Given the description of an element on the screen output the (x, y) to click on. 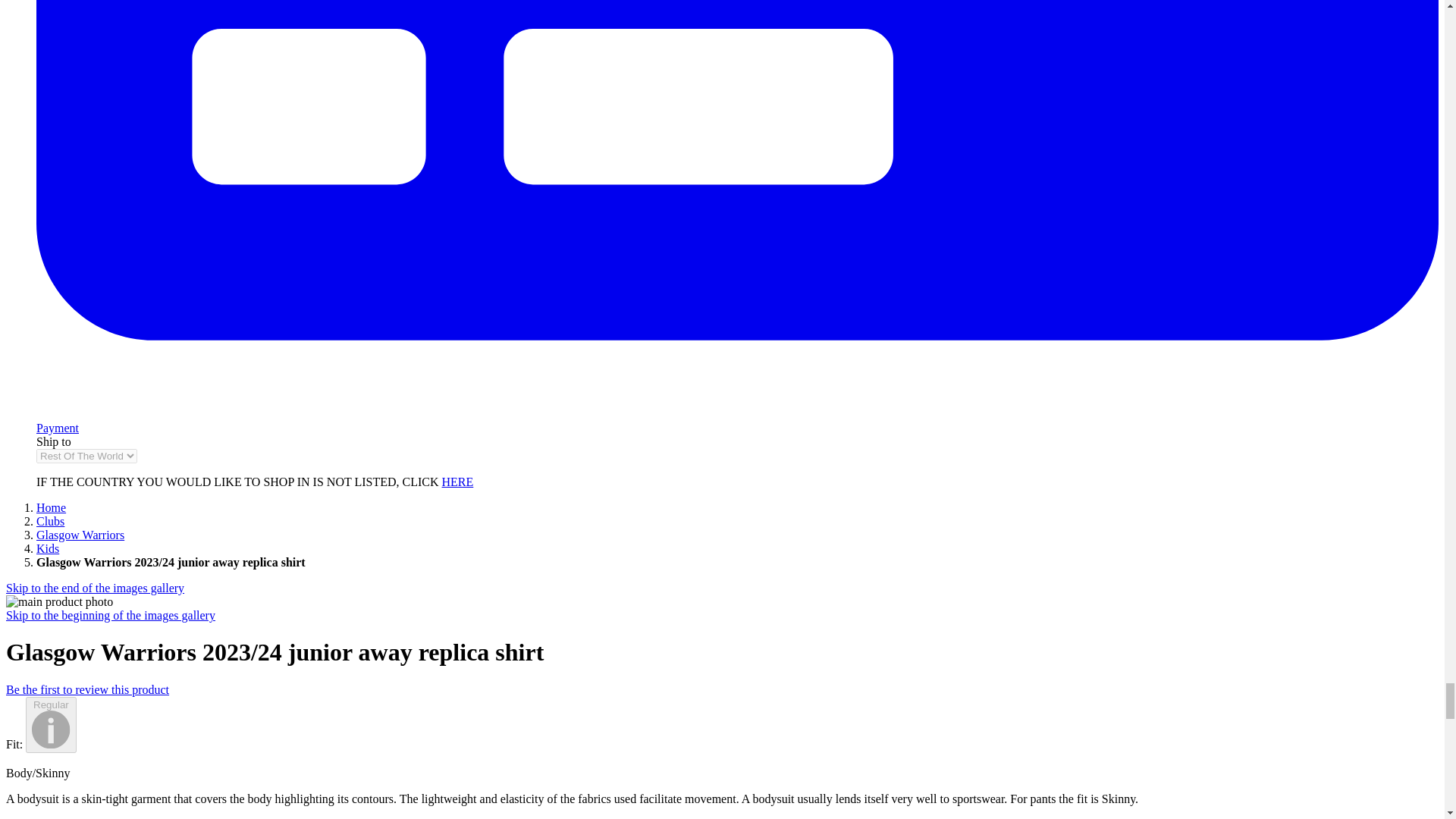
Go to Home Page (50, 507)
